Given the description of an element on the screen output the (x, y) to click on. 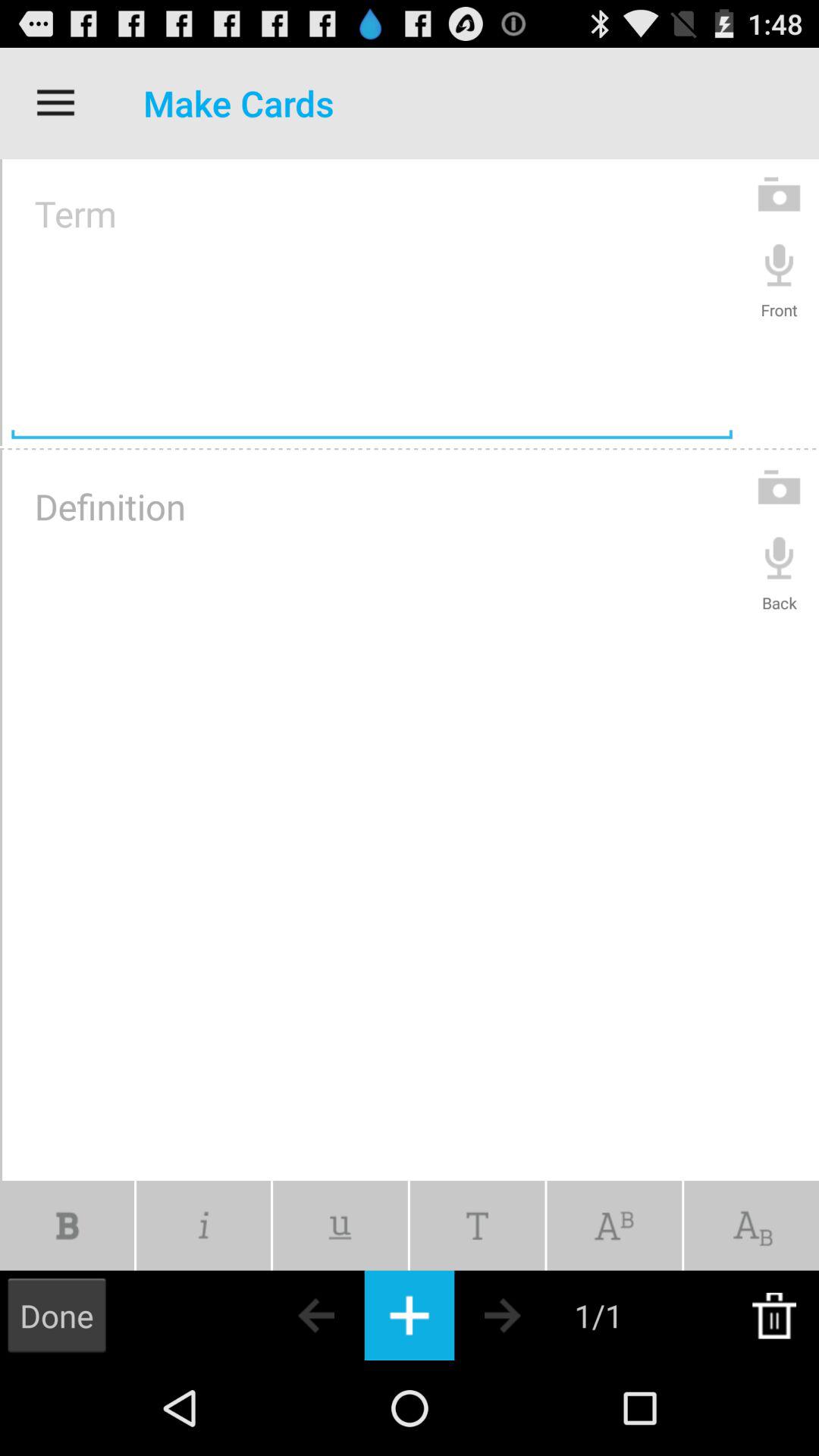
toggle microphone (779, 264)
